Given the description of an element on the screen output the (x, y) to click on. 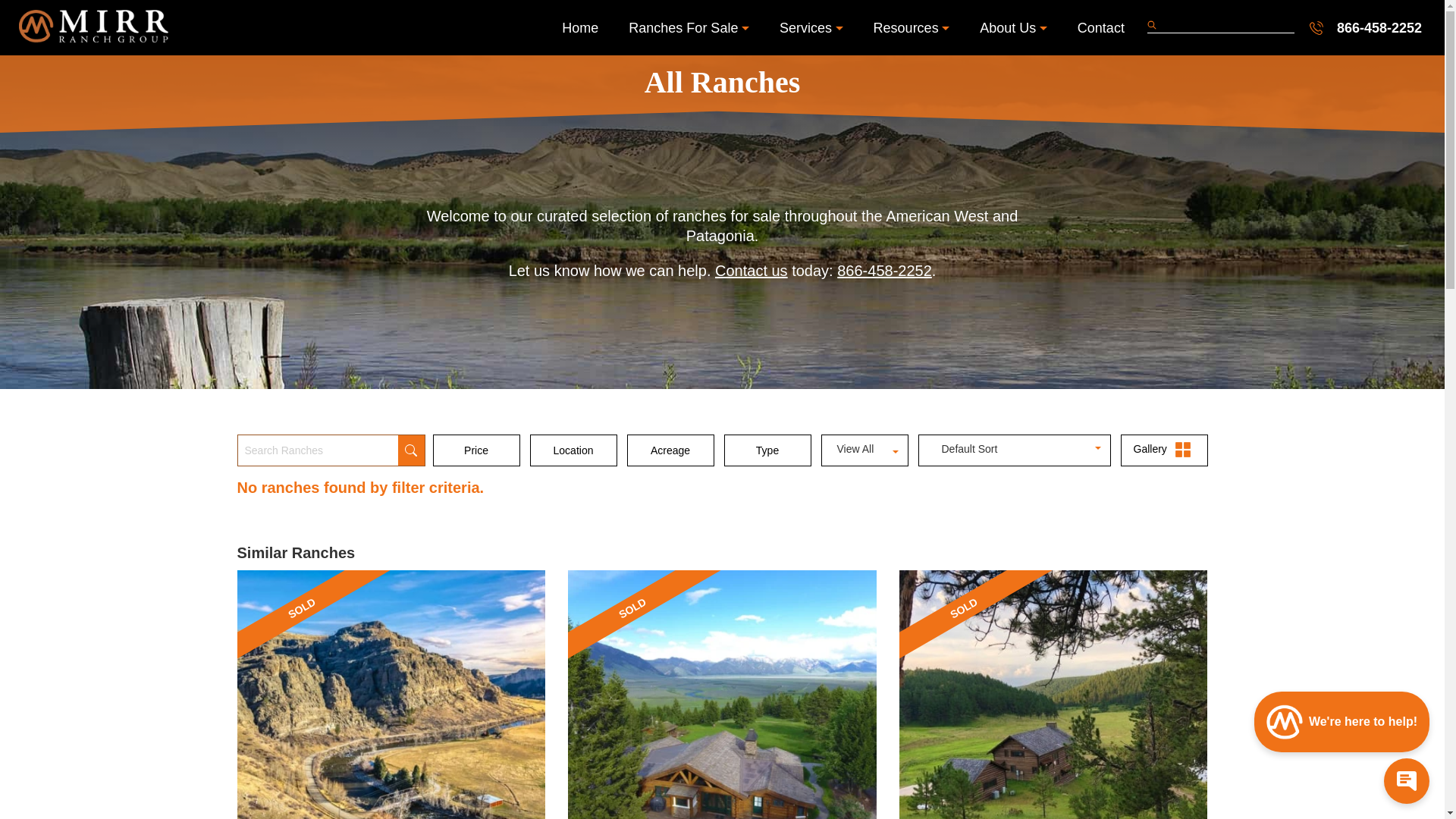
Ranches For Sale (688, 27)
About Us (1012, 27)
Services (810, 27)
Resources (911, 27)
